Given the description of an element on the screen output the (x, y) to click on. 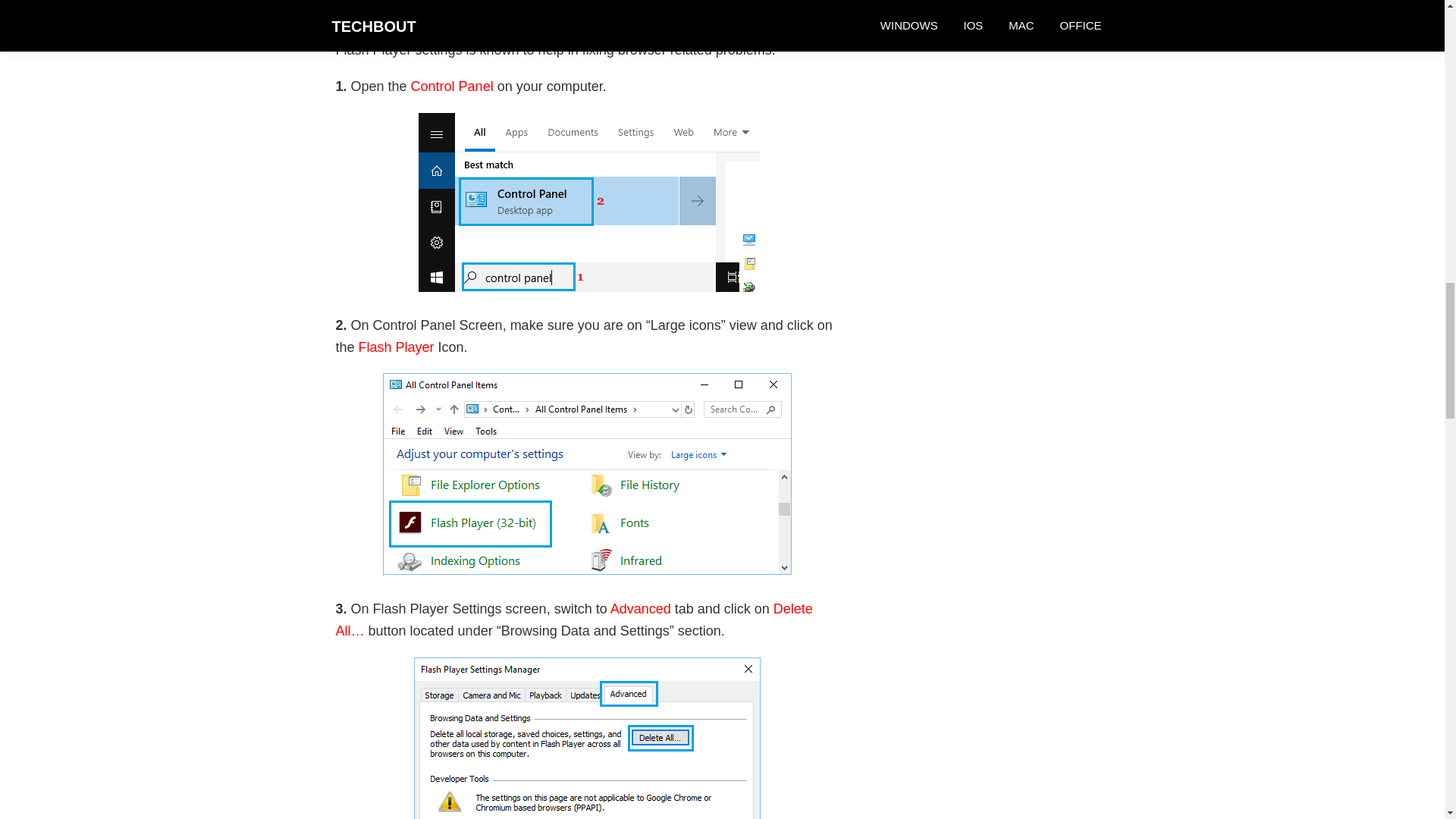
Open Control Panel on Windows PC (586, 202)
Flash Player Icon on Windows Control Panel Screen  (585, 474)
Delete Flash Player Data and Settings Option in Windows 10 (586, 738)
